Given the description of an element on the screen output the (x, y) to click on. 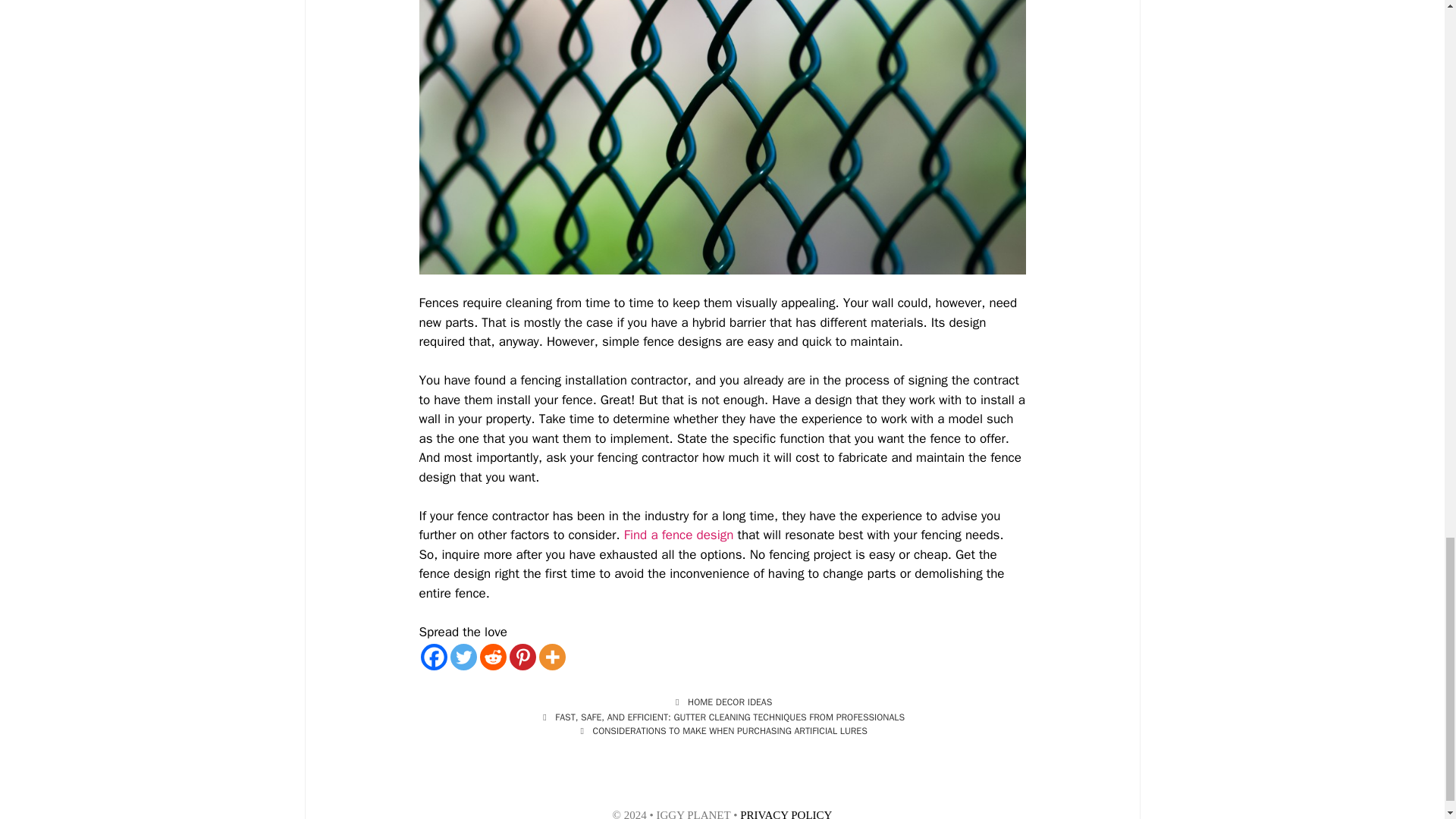
HOME DECOR IDEAS (729, 702)
Find a fence design (678, 534)
Pinterest (522, 656)
CONSIDERATIONS TO MAKE WHEN PURCHASING ARTIFICIAL LURES (729, 730)
More (551, 656)
Facebook (433, 656)
PRIVACY POLICY (785, 814)
The Spruce (678, 534)
Twitter (463, 656)
Reddit (492, 656)
